Given the description of an element on the screen output the (x, y) to click on. 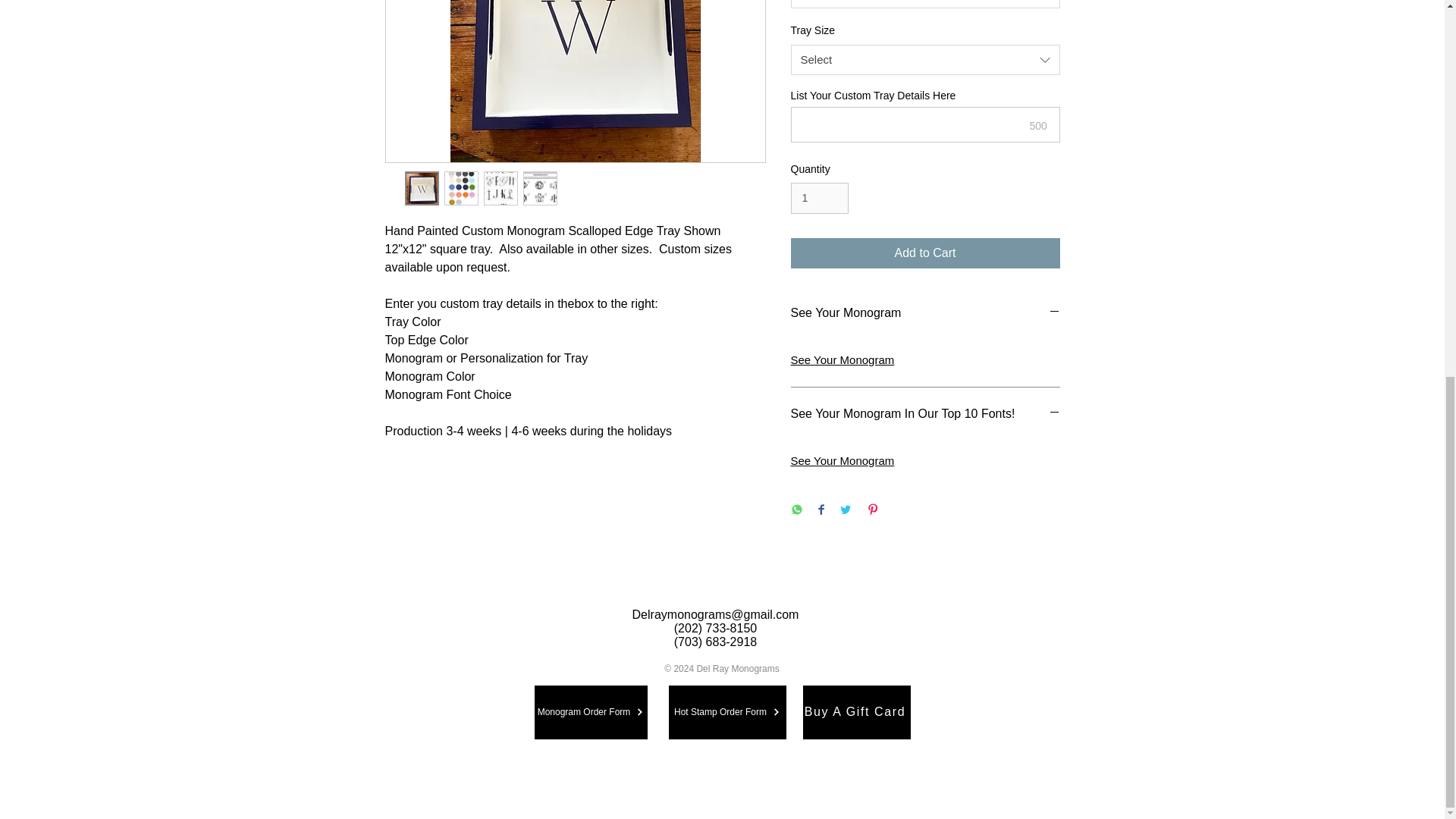
1 (818, 197)
